Given the description of an element on the screen output the (x, y) to click on. 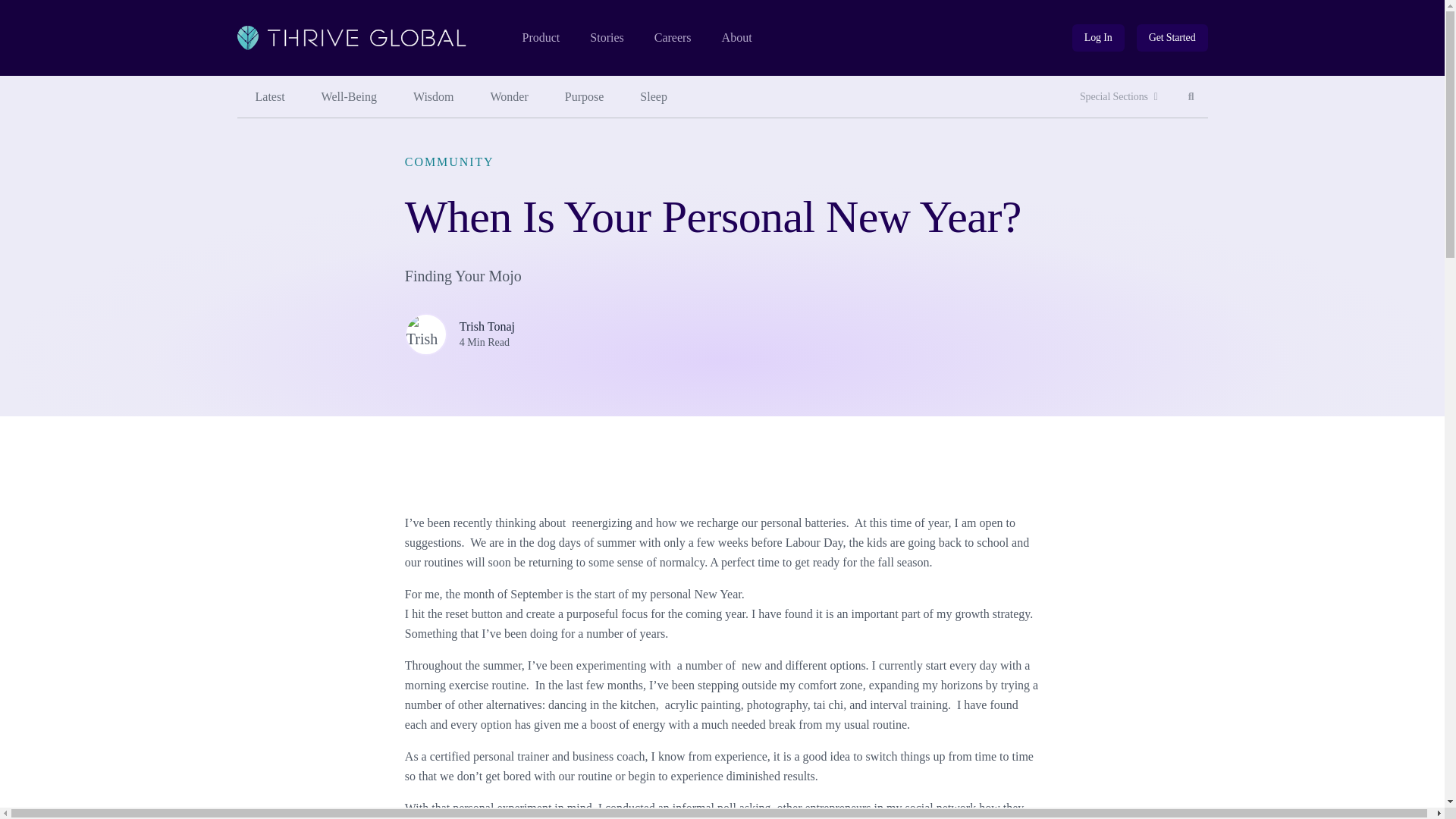
btn-primary (1172, 37)
Latest (268, 96)
Well-Being (348, 96)
About (737, 37)
Wisdom (432, 96)
Purpose (585, 96)
Stories (606, 37)
Log In (1097, 37)
btn-info (1097, 37)
Wonder (509, 96)
